Given the description of an element on the screen output the (x, y) to click on. 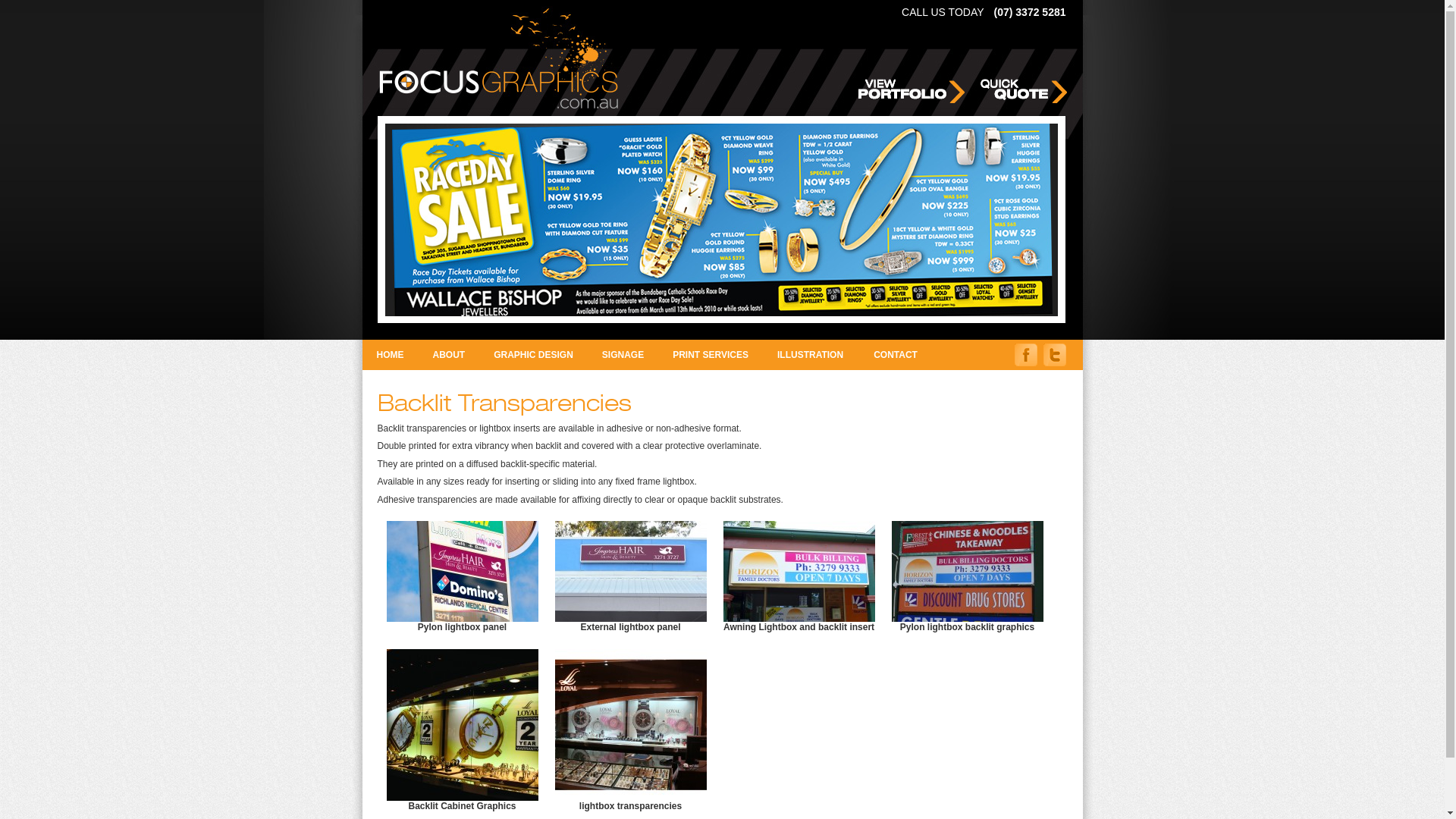
HOME Element type: text (390, 354)
PRINT SERVICES Element type: text (710, 354)
ABOUT Element type: text (449, 354)
CONTACT Element type: text (894, 354)
ILLUSTRATION Element type: text (809, 354)
SIGNAGE Element type: text (622, 354)
GRAPHIC DESIGN Element type: text (533, 354)
